Given the description of an element on the screen output the (x, y) to click on. 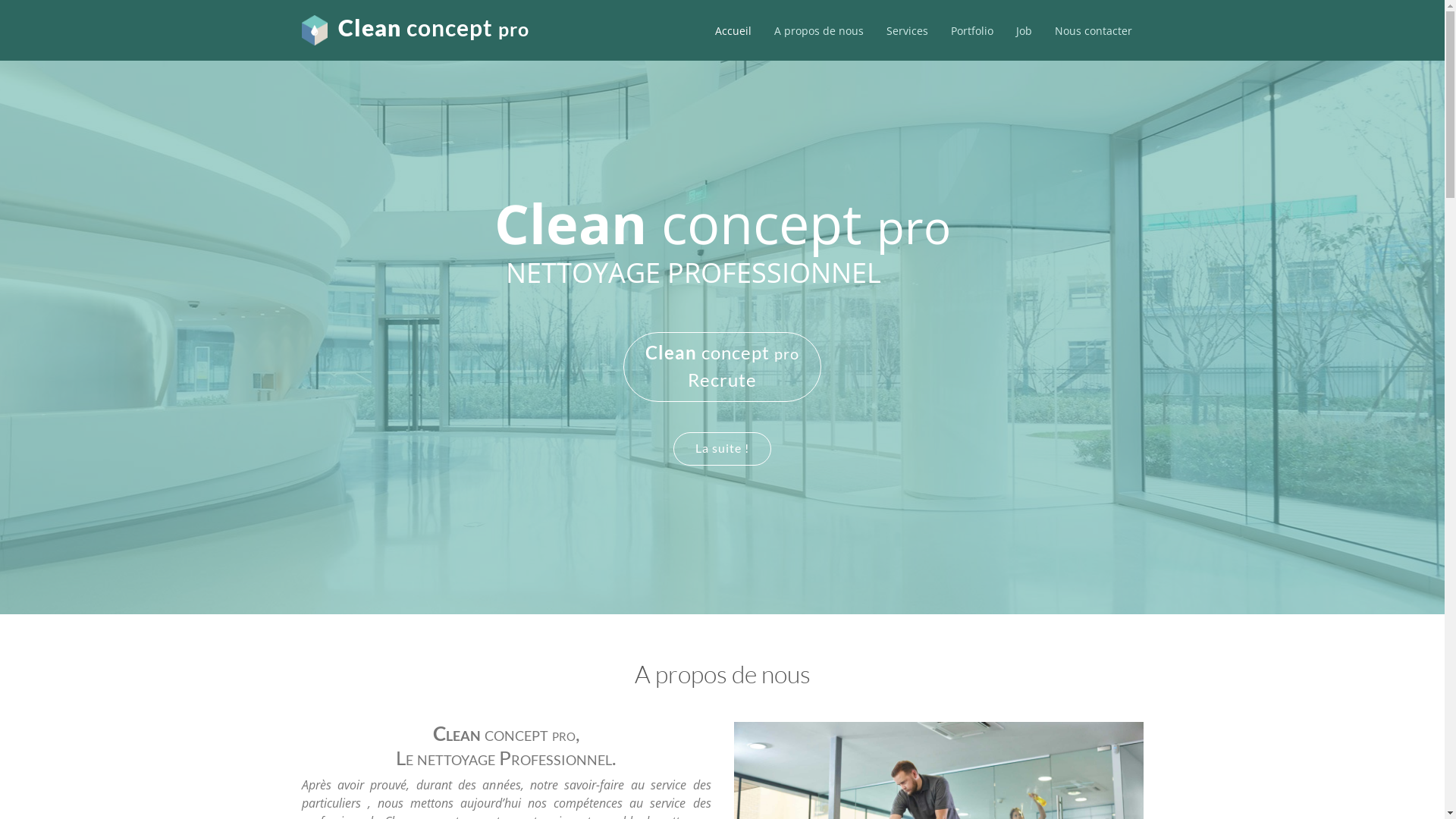
Clean concept pro
Recrute Element type: text (722, 366)
Portfolio Element type: text (971, 30)
A propos de nous Element type: text (818, 30)
Accueil Element type: text (732, 30)
Services Element type: text (907, 30)
Nous contacter Element type: text (1093, 30)
La suite ! Element type: text (722, 448)
Job Element type: text (1023, 30)
Clean concept pro Element type: text (433, 26)
